Given the description of an element on the screen output the (x, y) to click on. 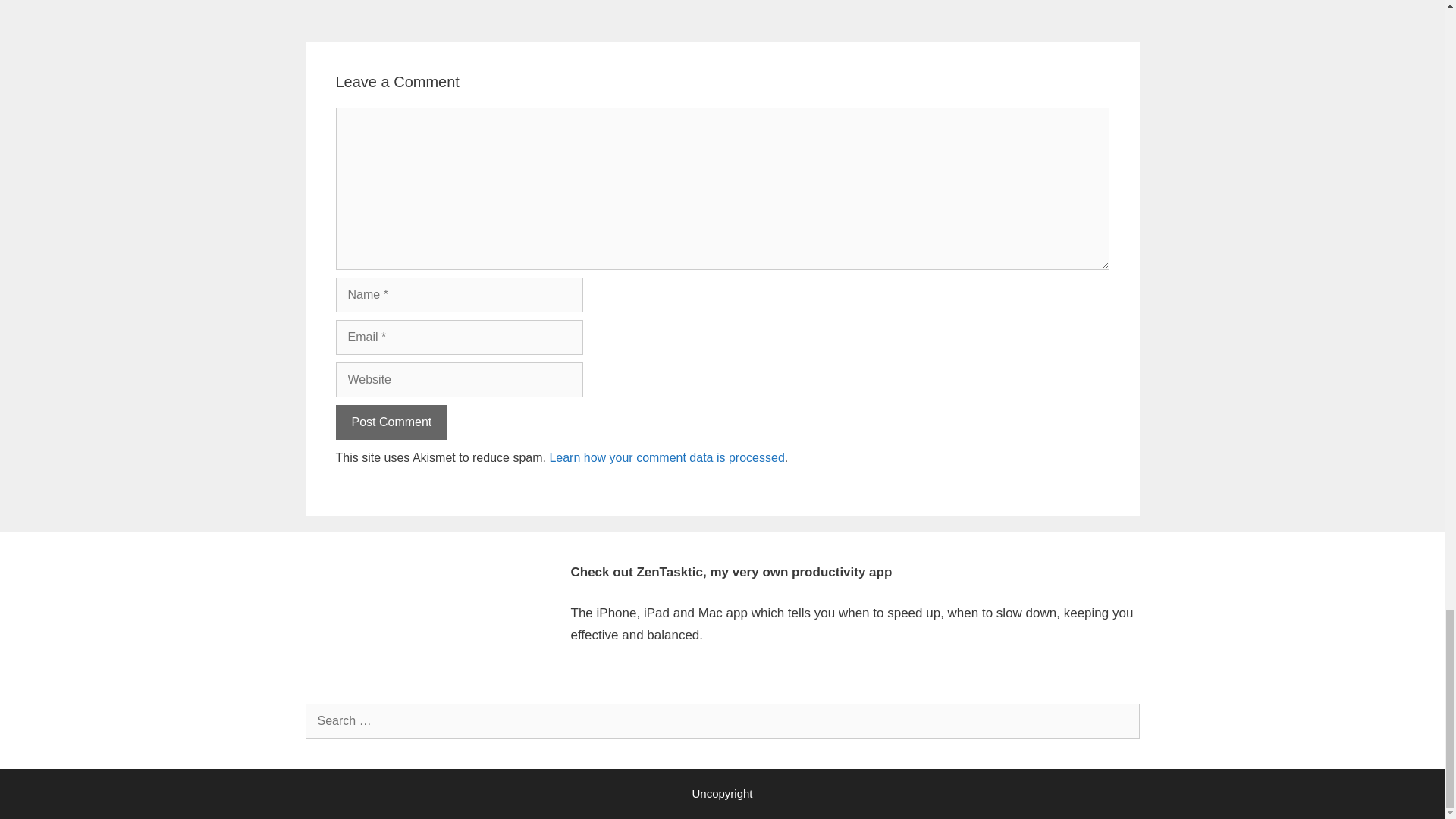
Learn how your comment data is processed (666, 457)
Uncopyright (721, 793)
Post Comment (390, 421)
Post Comment (390, 421)
Search for: (721, 720)
